Given the description of an element on the screen output the (x, y) to click on. 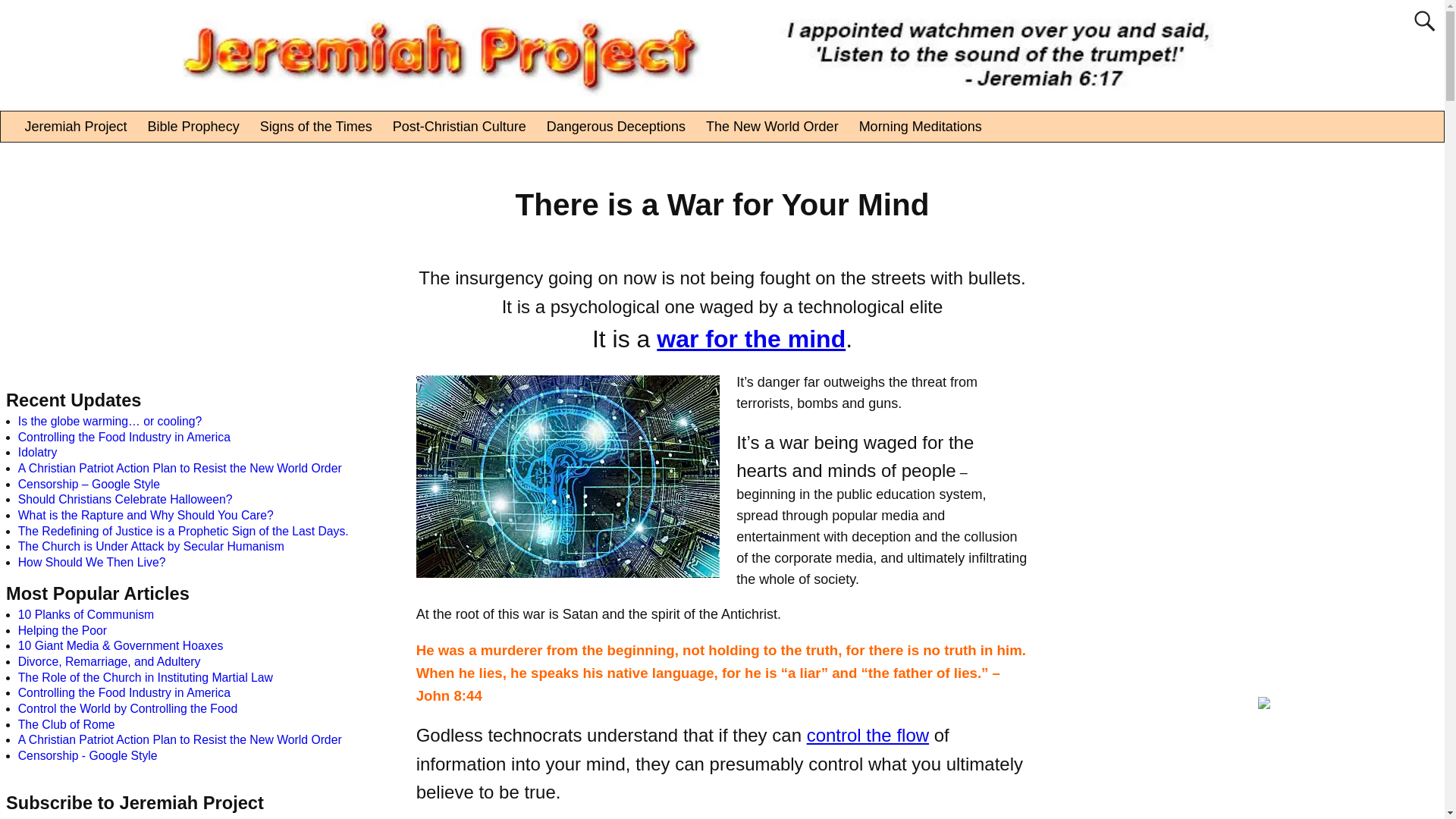
Signs of the Times (314, 126)
war for the mind (750, 338)
control the flow (867, 734)
Post-Christian Culture (458, 126)
Morning Meditations (919, 126)
Dangerous Deceptions (615, 126)
The New World Order (771, 126)
Bible Prophecy (192, 126)
Jeremiah Project (75, 126)
